Given the description of an element on the screen output the (x, y) to click on. 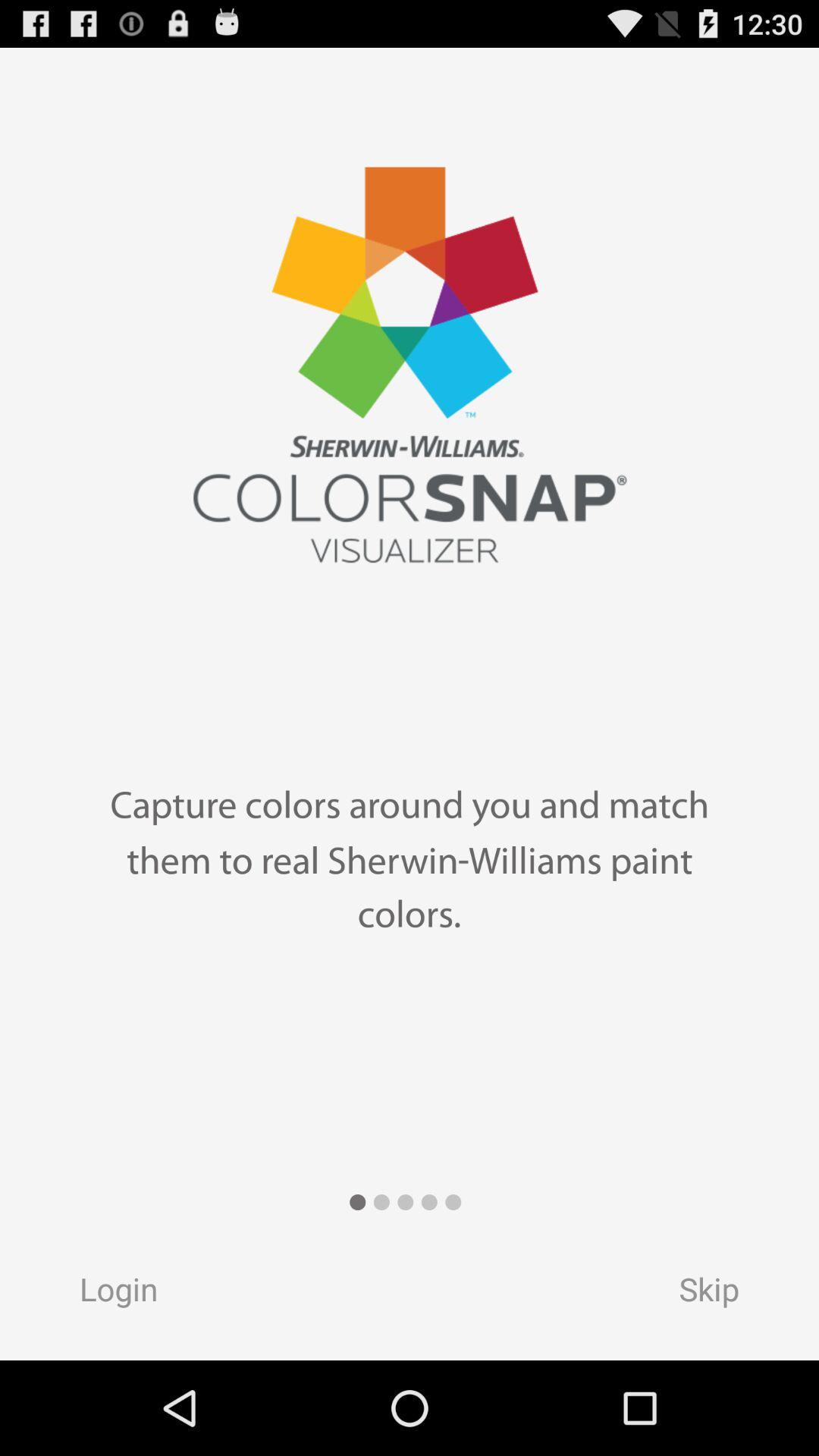
choose the skip button (724, 1293)
